Given the description of an element on the screen output the (x, y) to click on. 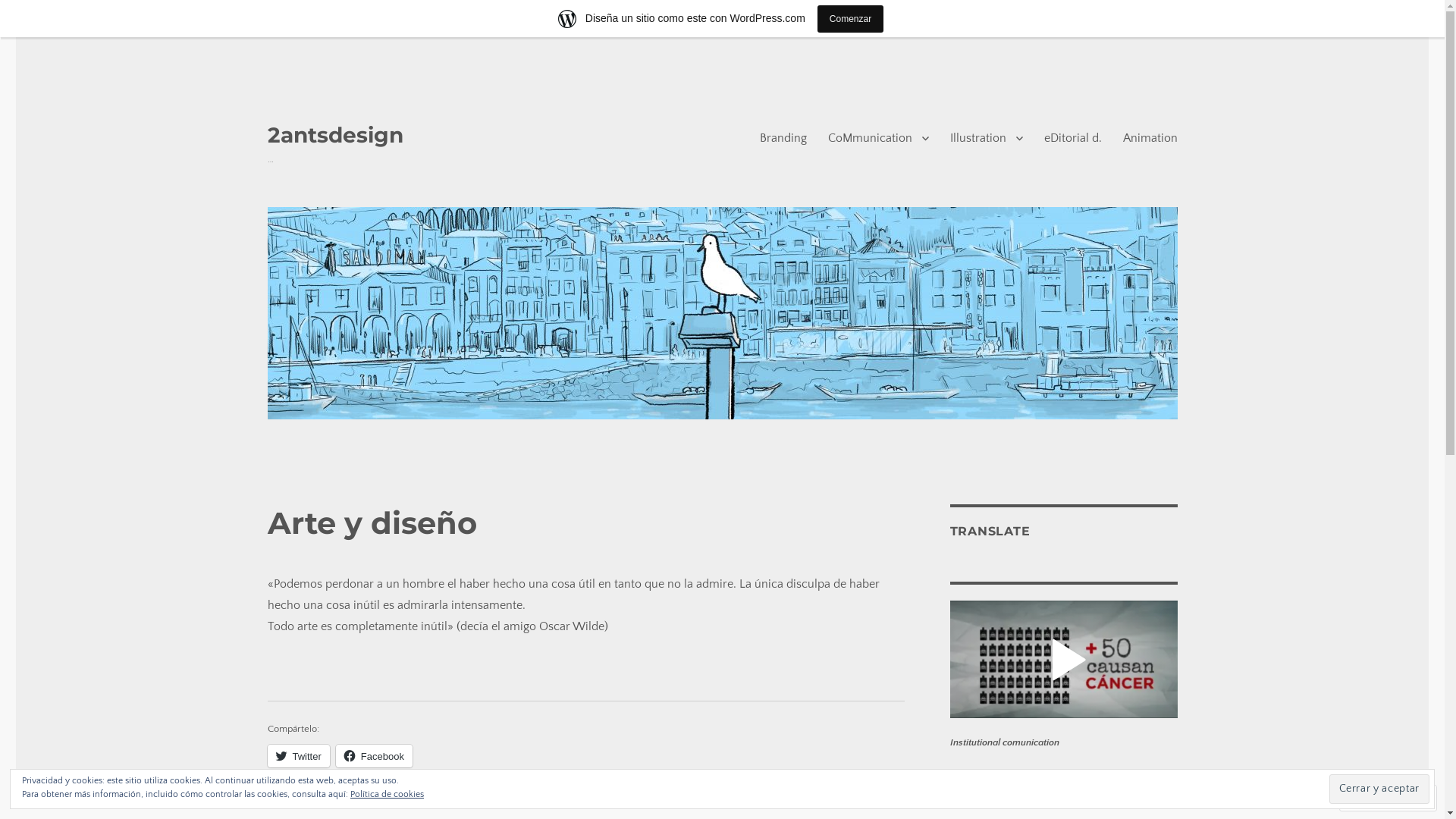
Facebook Element type: text (373, 755)
Seguir Element type: text (1373, 797)
Branding Element type: text (783, 137)
Cerrar y aceptar Element type: text (1378, 788)
eDitorial d. Element type: text (1071, 137)
Illustration Element type: text (985, 137)
CoMmunication Element type: text (878, 137)
Animation Element type: text (1149, 137)
Twitter Element type: text (297, 755)
2antsdesign Element type: text (334, 134)
Comenzar Element type: text (850, 17)
